Given the description of an element on the screen output the (x, y) to click on. 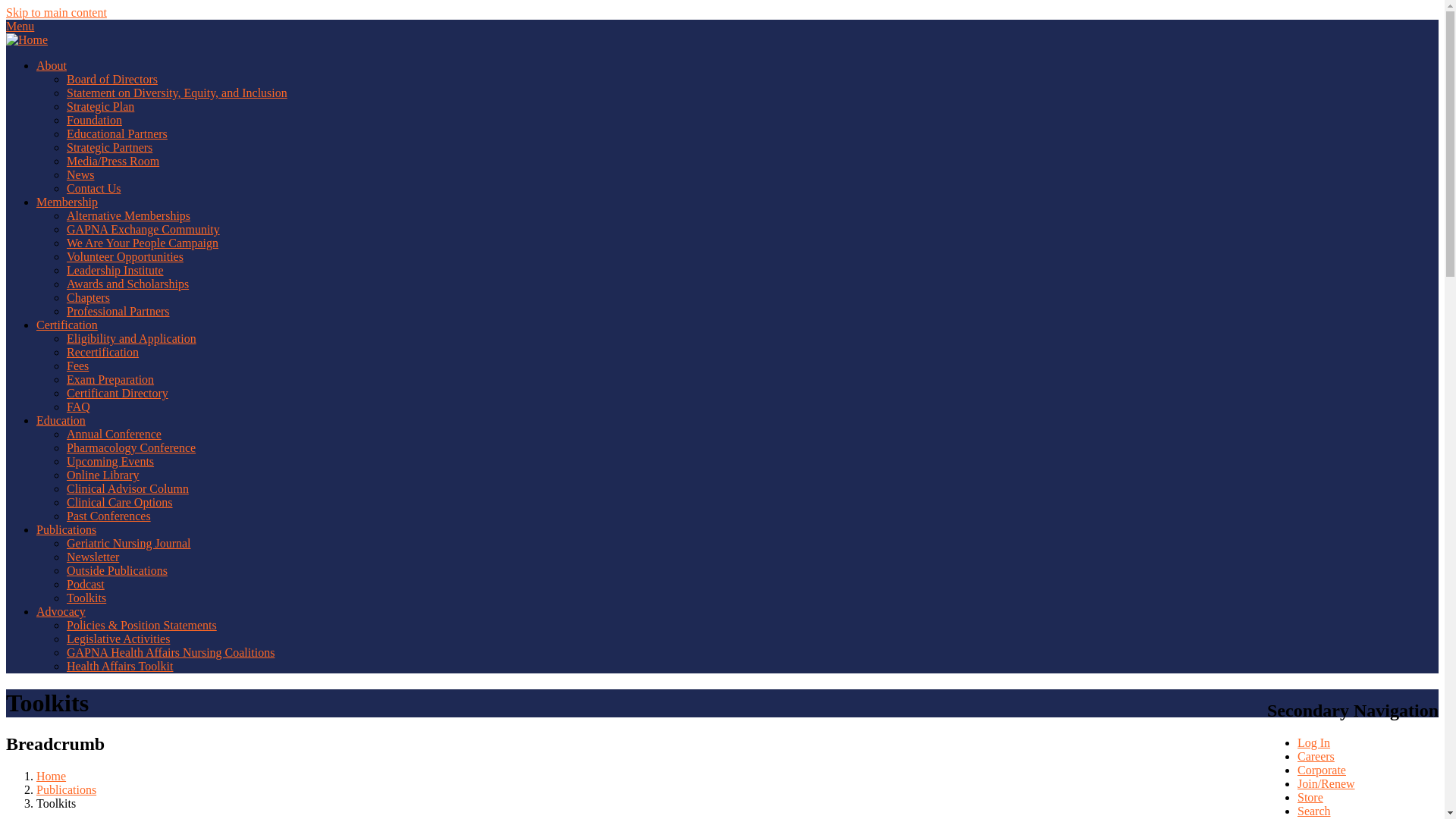
Leadership Institute (114, 269)
Upcoming Events (110, 461)
Skip to main content (55, 11)
Annual Conference (113, 433)
FAQ (78, 406)
Eligibility and Application (131, 338)
Past Conferences (108, 515)
Clinical Care Options (119, 502)
Education (60, 420)
Exam Preparation (110, 379)
Strategic Partners (109, 146)
Professional Partners (118, 310)
Clinical Advisor Column (127, 488)
GAPNA Exchange Community (142, 228)
Foundation (94, 119)
